Given the description of an element on the screen output the (x, y) to click on. 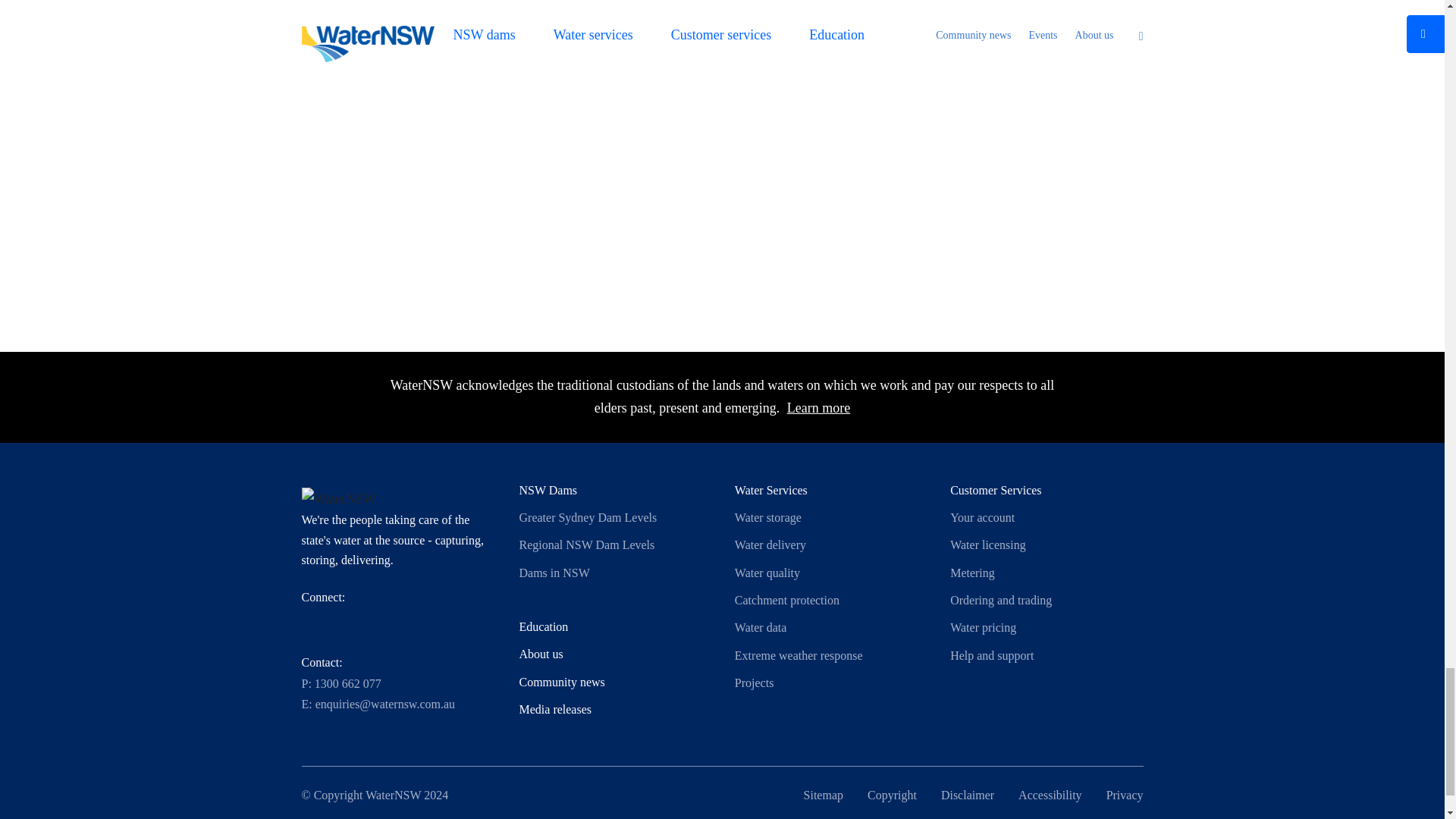
LinkedIn (414, 623)
Instagram (381, 623)
Facebook (346, 623)
Twitter (312, 623)
YouTube (449, 623)
